Given the description of an element on the screen output the (x, y) to click on. 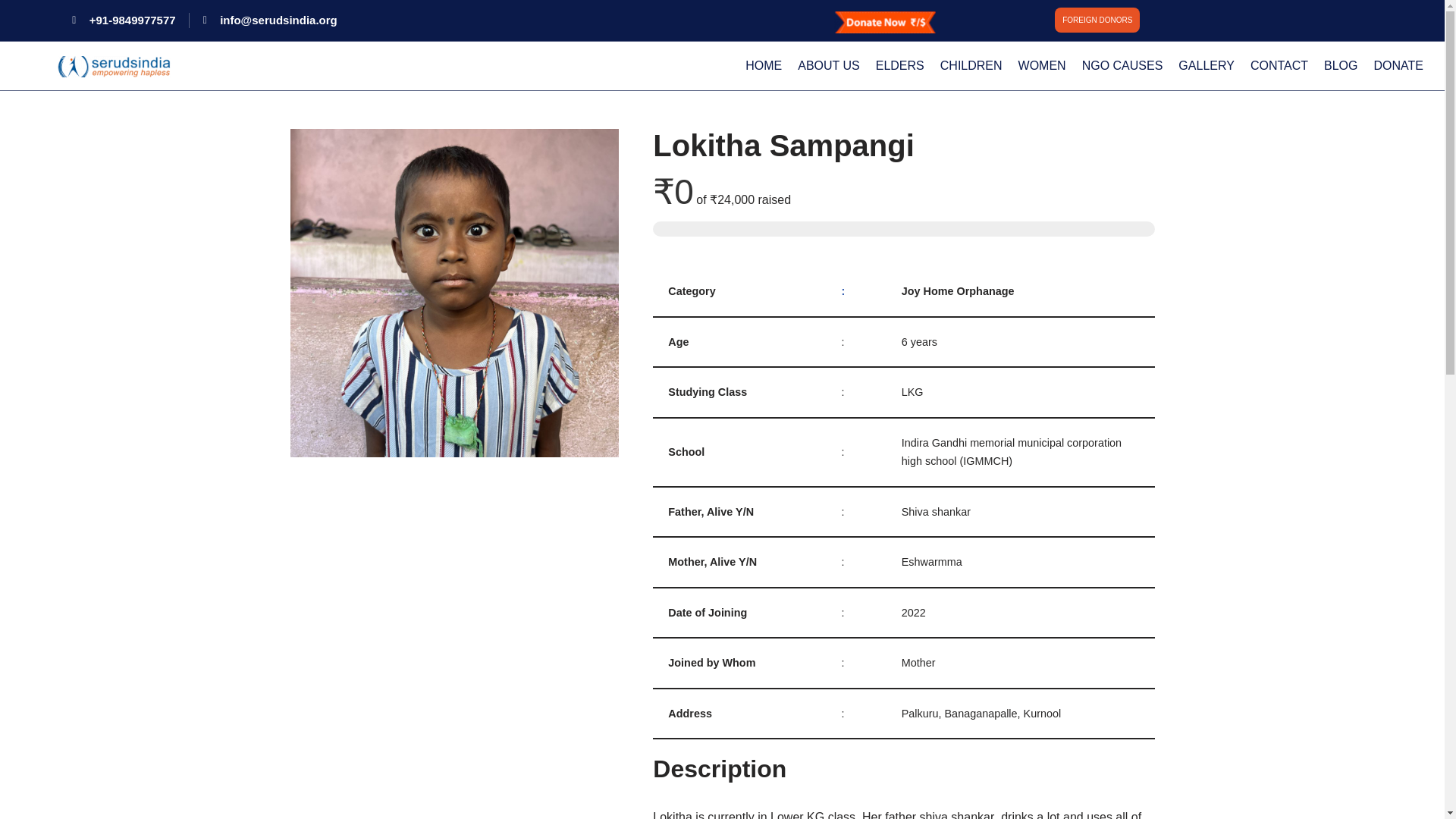
GALLERY (1206, 65)
NGO CAUSES (1122, 65)
logo-200.png (114, 66)
WOMEN (1041, 65)
CONTACT (1279, 65)
HOME (763, 65)
CHILDREN (971, 65)
ABOUT US (829, 65)
ELDERS (899, 65)
Skip to content (11, 31)
